Given the description of an element on the screen output the (x, y) to click on. 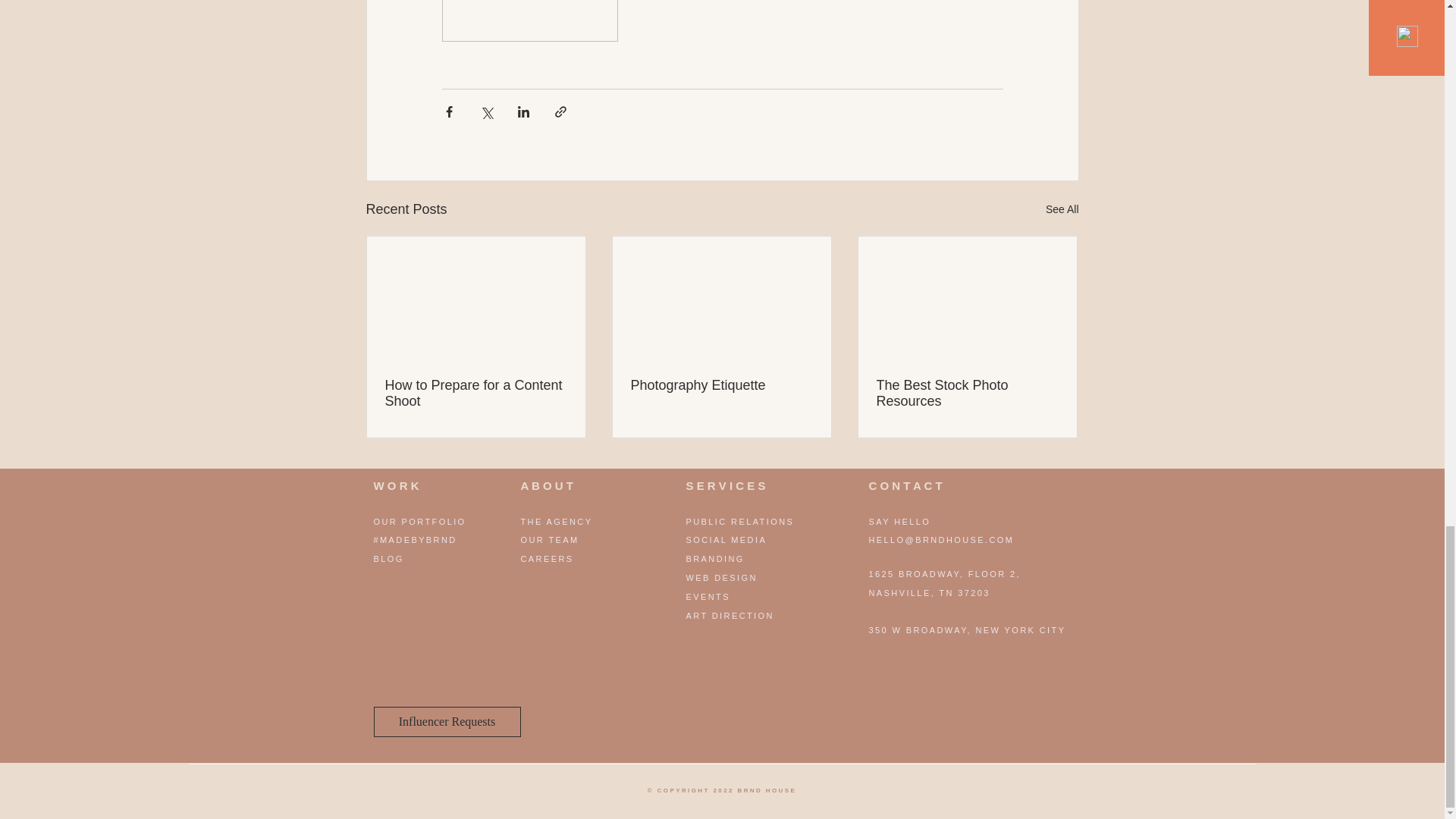
OUR PORTFOLIO (418, 521)
C O N T A C T (905, 485)
How to Prepare for a Content Shoot (476, 393)
SAY HELLO (900, 521)
BLOG (387, 558)
S E R V I C E S (725, 485)
OUR TEAM (548, 539)
CAREERS (546, 558)
See All (1061, 209)
Photography Etiquette (721, 385)
W O R K (395, 485)
The Best Stock Photo Resources (967, 393)
THE AGENCY (555, 521)
Influencer Requests (445, 721)
